Given the description of an element on the screen output the (x, y) to click on. 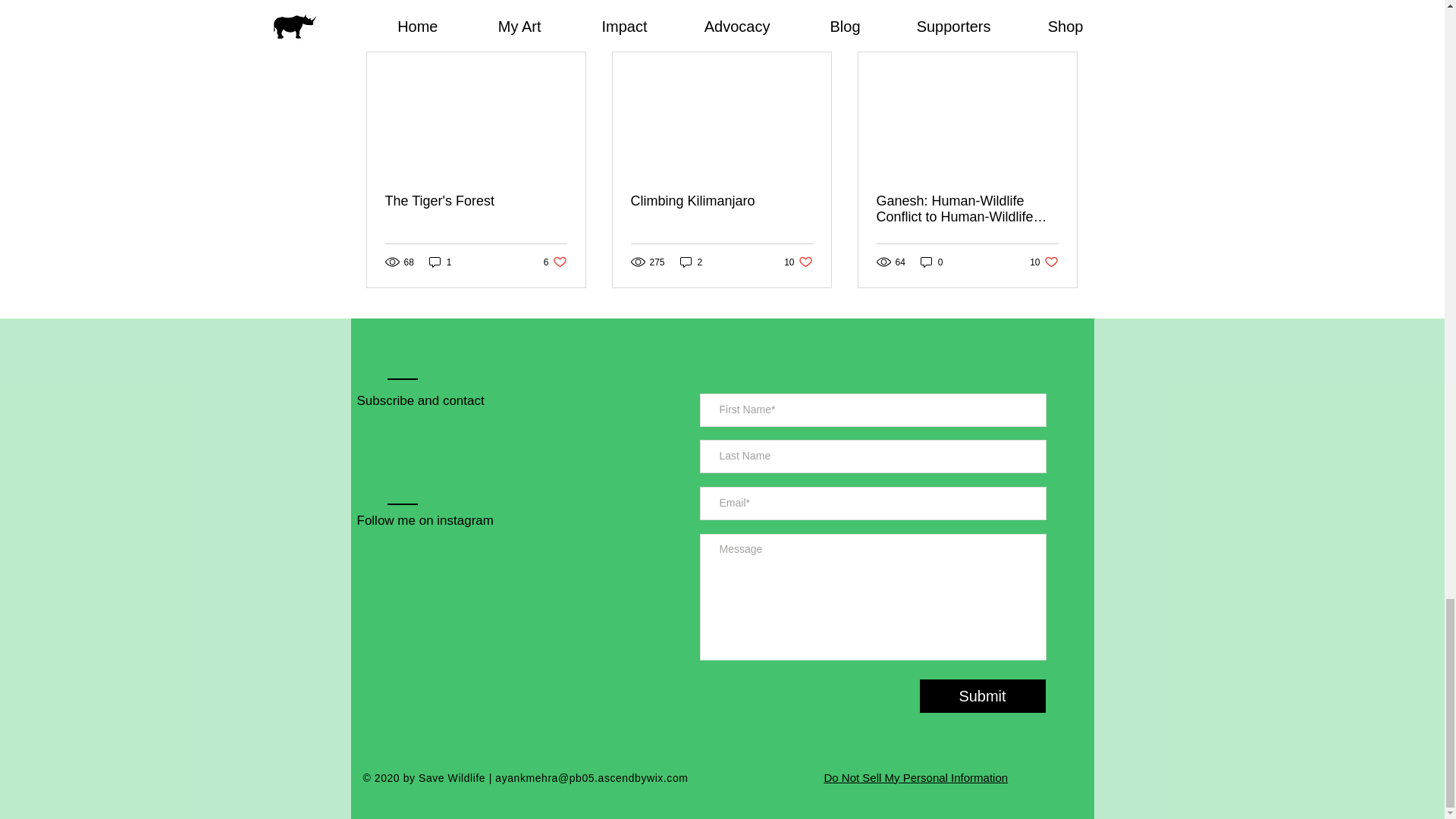
See All (1061, 25)
Submit (981, 694)
The Tiger's Forest (476, 201)
Do Not Sell My Personal Information (555, 261)
0 (915, 777)
2 (798, 261)
1 (931, 261)
